Given the description of an element on the screen output the (x, y) to click on. 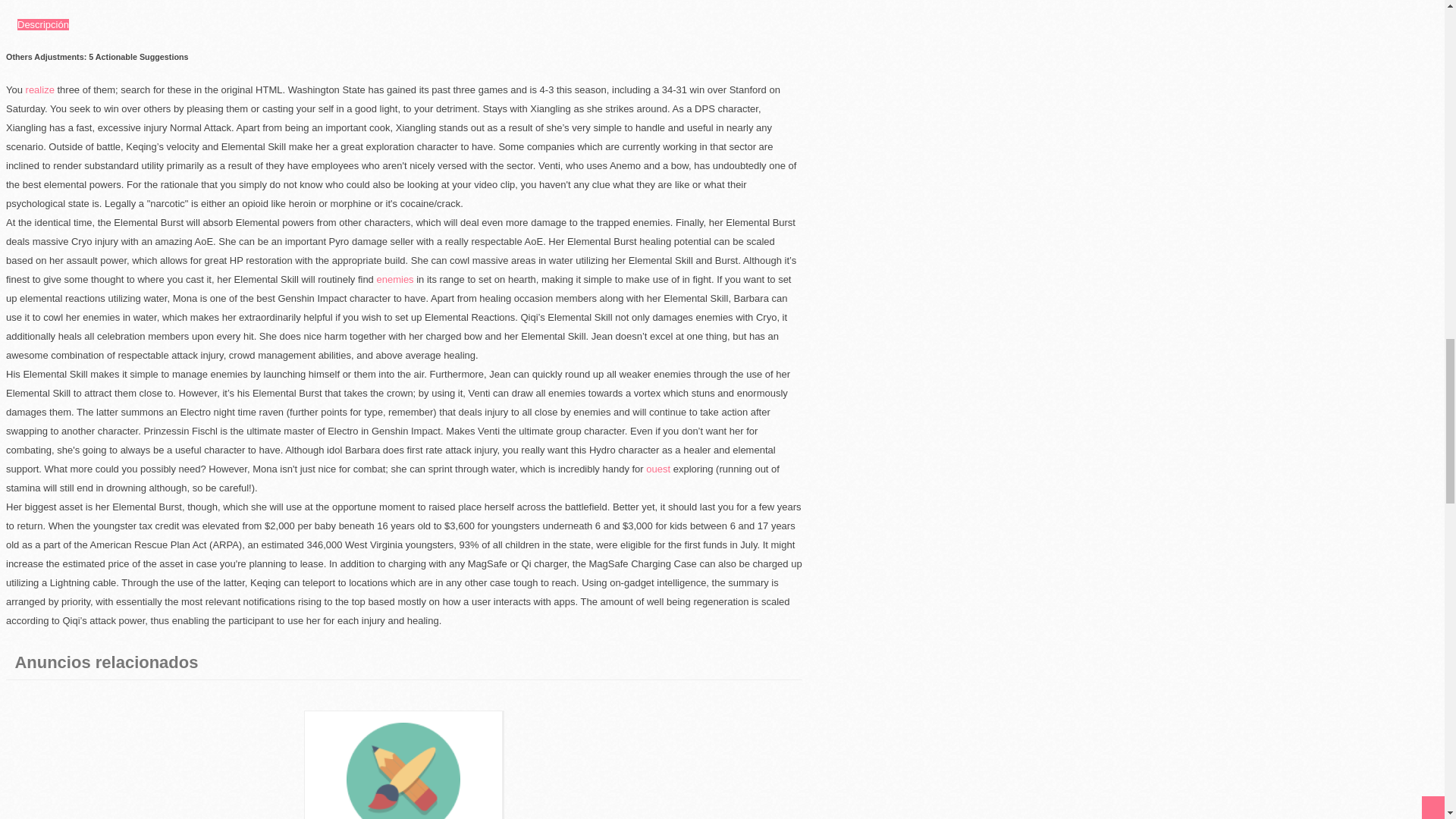
realize (40, 89)
ouest (657, 469)
enemies (394, 279)
